Given the description of an element on the screen output the (x, y) to click on. 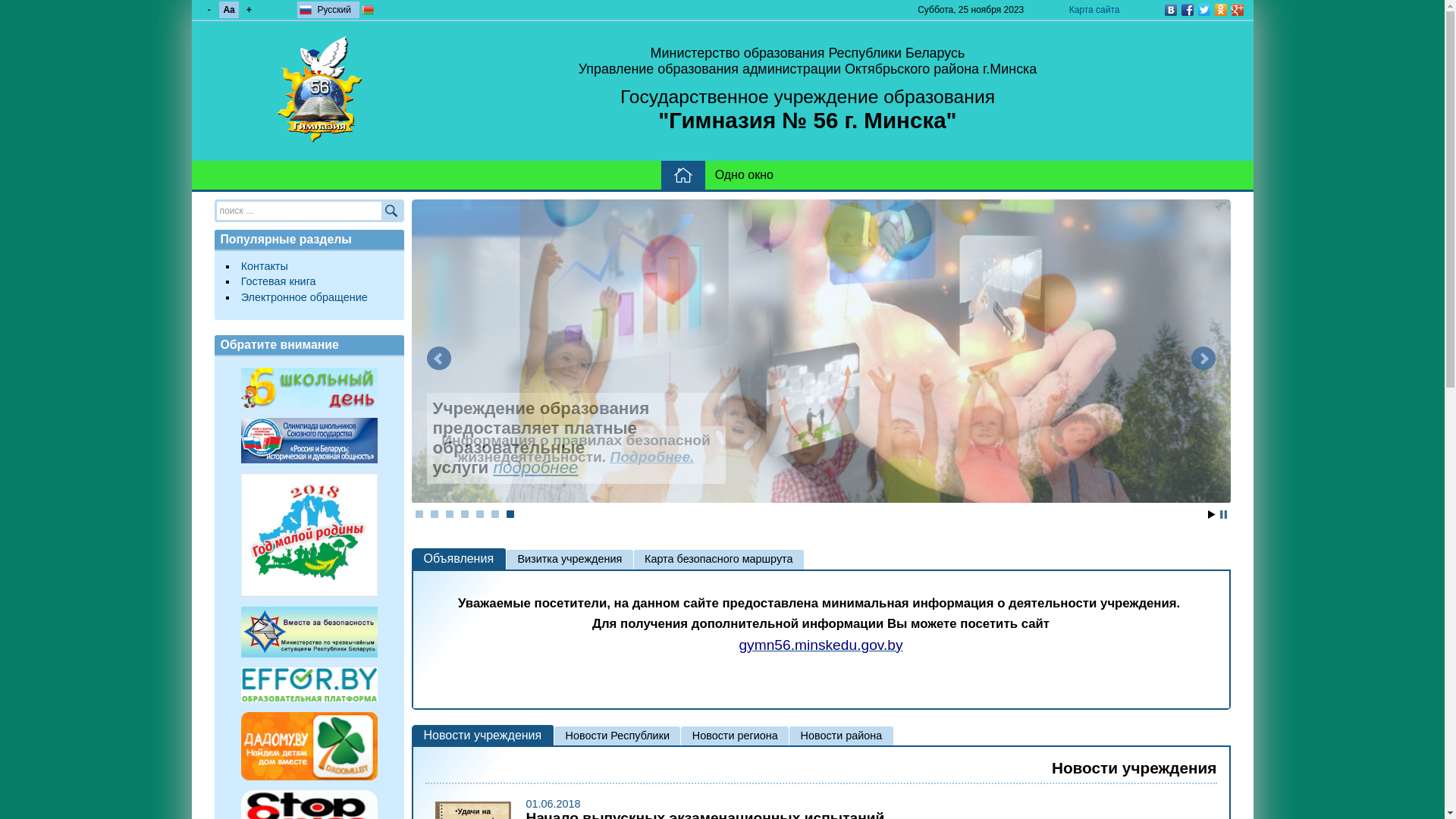
3 Element type: text (449, 513)
Facebook Element type: hover (1186, 9)
+ Element type: text (248, 9)
Stop Element type: text (1222, 514)
7 Element type: text (510, 513)
2 Element type: text (434, 513)
Aa Element type: text (228, 9)
6 Element type: text (494, 513)
gymn56.minskedu.gov.by Element type: text (820, 645)
Prev Element type: text (438, 358)
4 Element type: text (464, 513)
1 Element type: text (419, 513)
Twitter Element type: hover (1203, 9)
Next Element type: text (1202, 358)
- Element type: text (208, 9)
5 Element type: text (479, 513)
Start Element type: text (1210, 514)
dadomu.by Element type: hover (309, 746)
Google Plus Element type: hover (1236, 9)
